Given the description of an element on the screen output the (x, y) to click on. 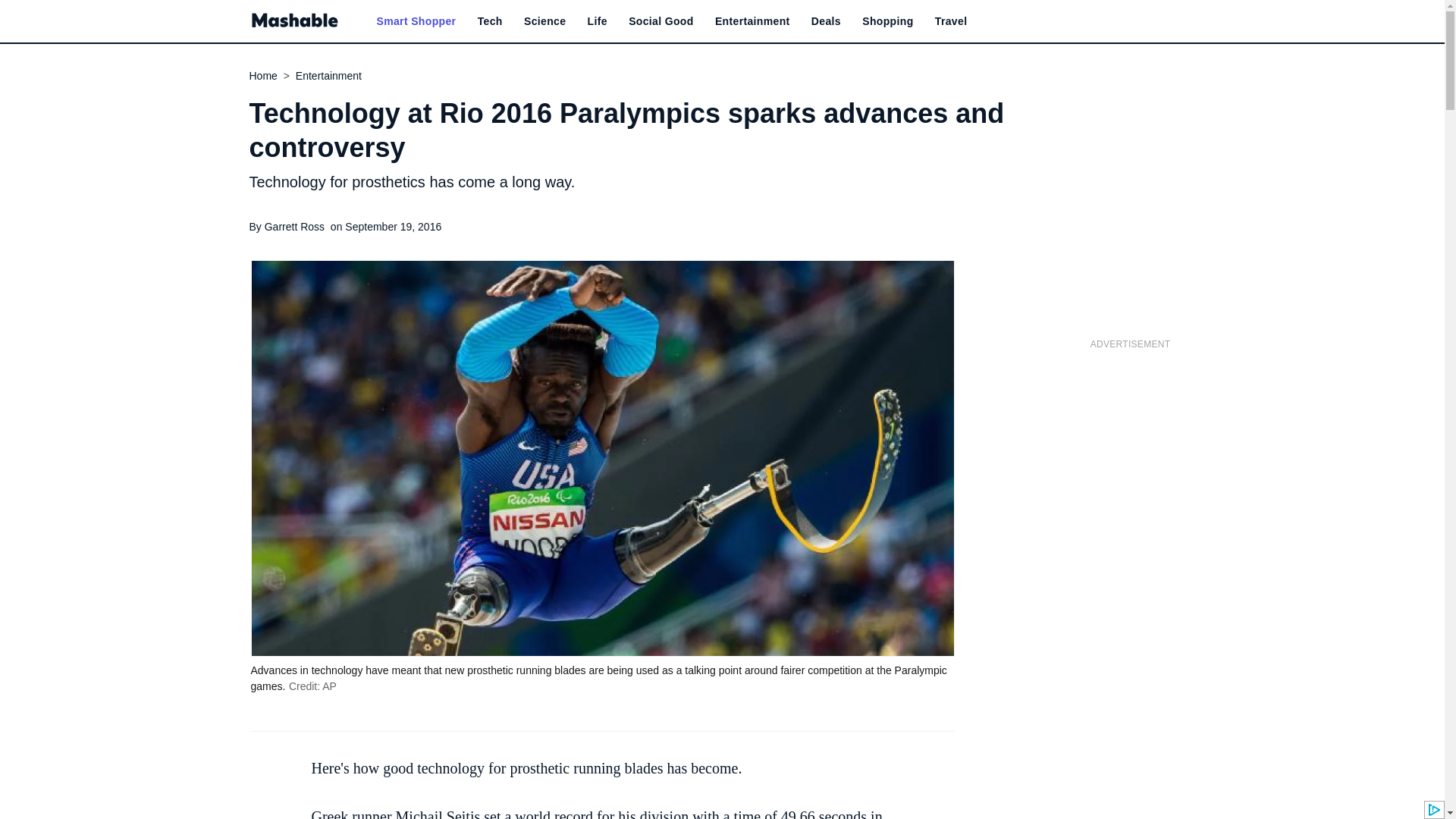
Science (545, 21)
Entertainment (752, 21)
Social Good (661, 21)
Deals (825, 21)
Life (597, 21)
Travel (951, 21)
Smart Shopper (415, 21)
Shopping (886, 21)
Tech (489, 21)
